Given the description of an element on the screen output the (x, y) to click on. 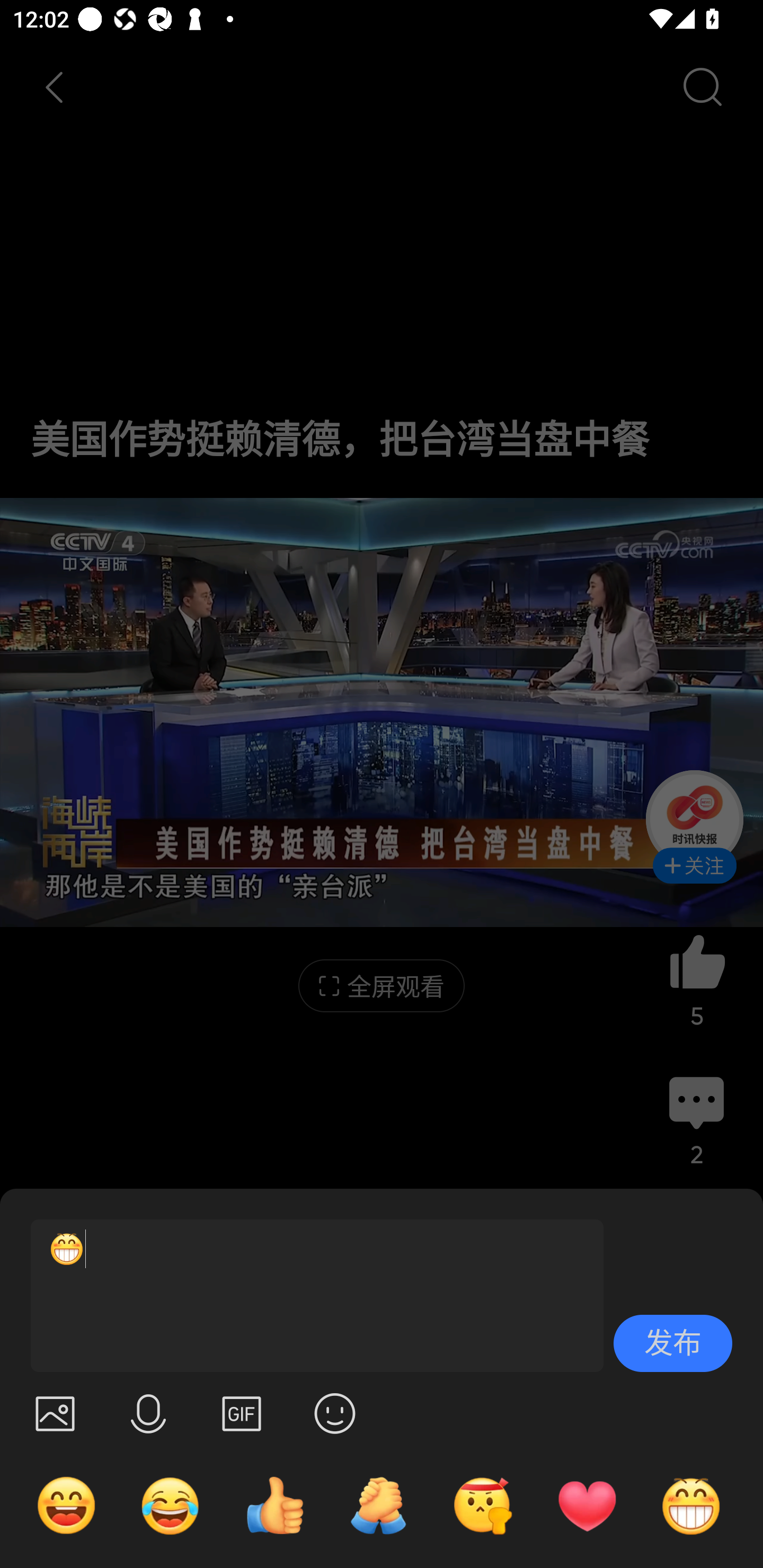
[呲牙] (308, 1295)
发布 (672, 1343)
 (54, 1413)
 (148, 1413)
 (241, 1413)
 (334, 1413)
哈哈 (66, 1505)
哭笑 (170, 1505)
点赞 (274, 1505)
加油 (378, 1505)
奋斗 (482, 1505)
心 (586, 1505)
呲牙 (690, 1505)
